Given the description of an element on the screen output the (x, y) to click on. 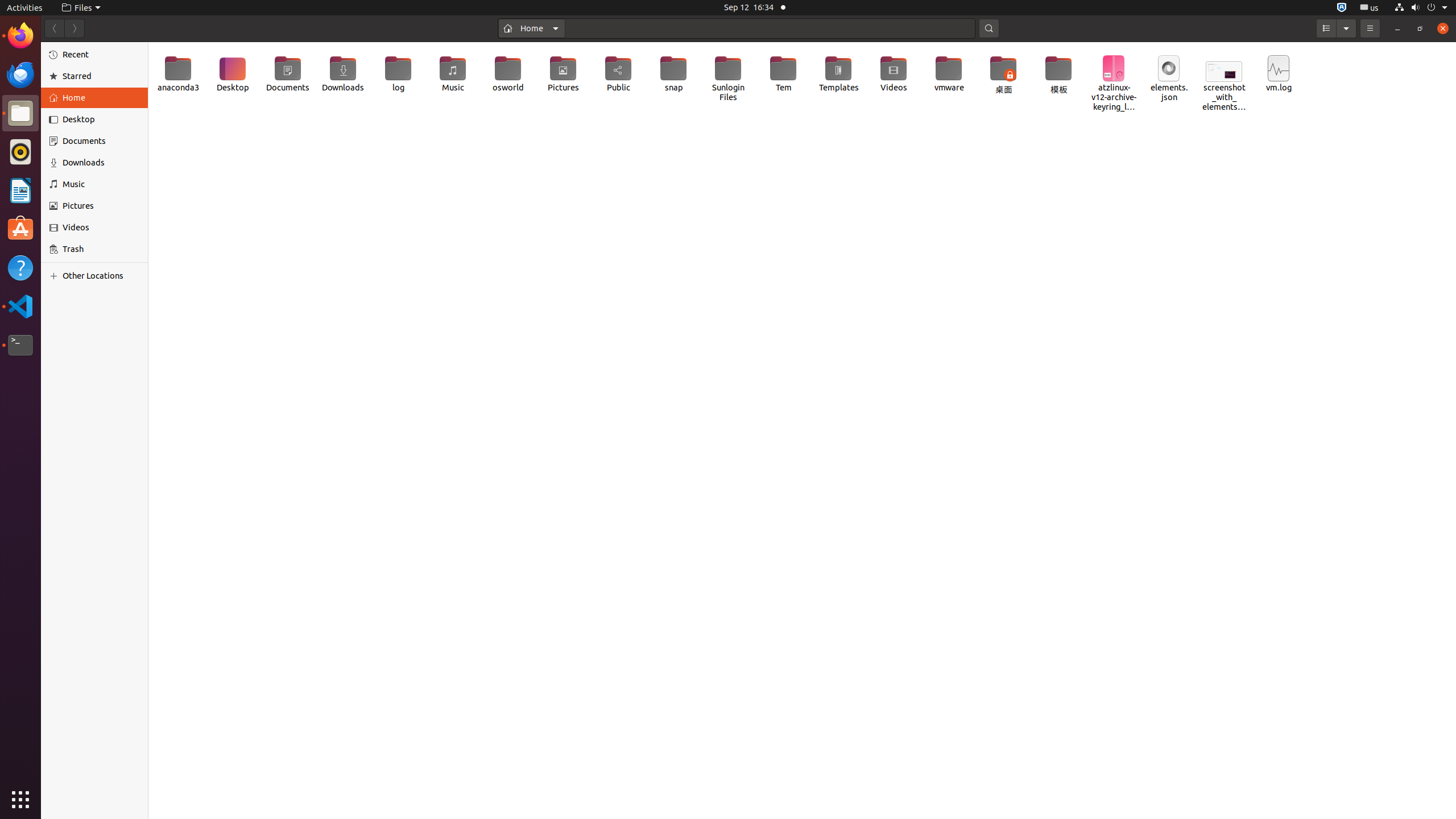
Restore Element type: push-button (1419, 27)
Trash Element type: label (75, 108)
Content View Element type: panel (802, 430)
snap Element type: canvas (673, 73)
Icon View Element type: layered-pane (802, 430)
